Given the description of an element on the screen output the (x, y) to click on. 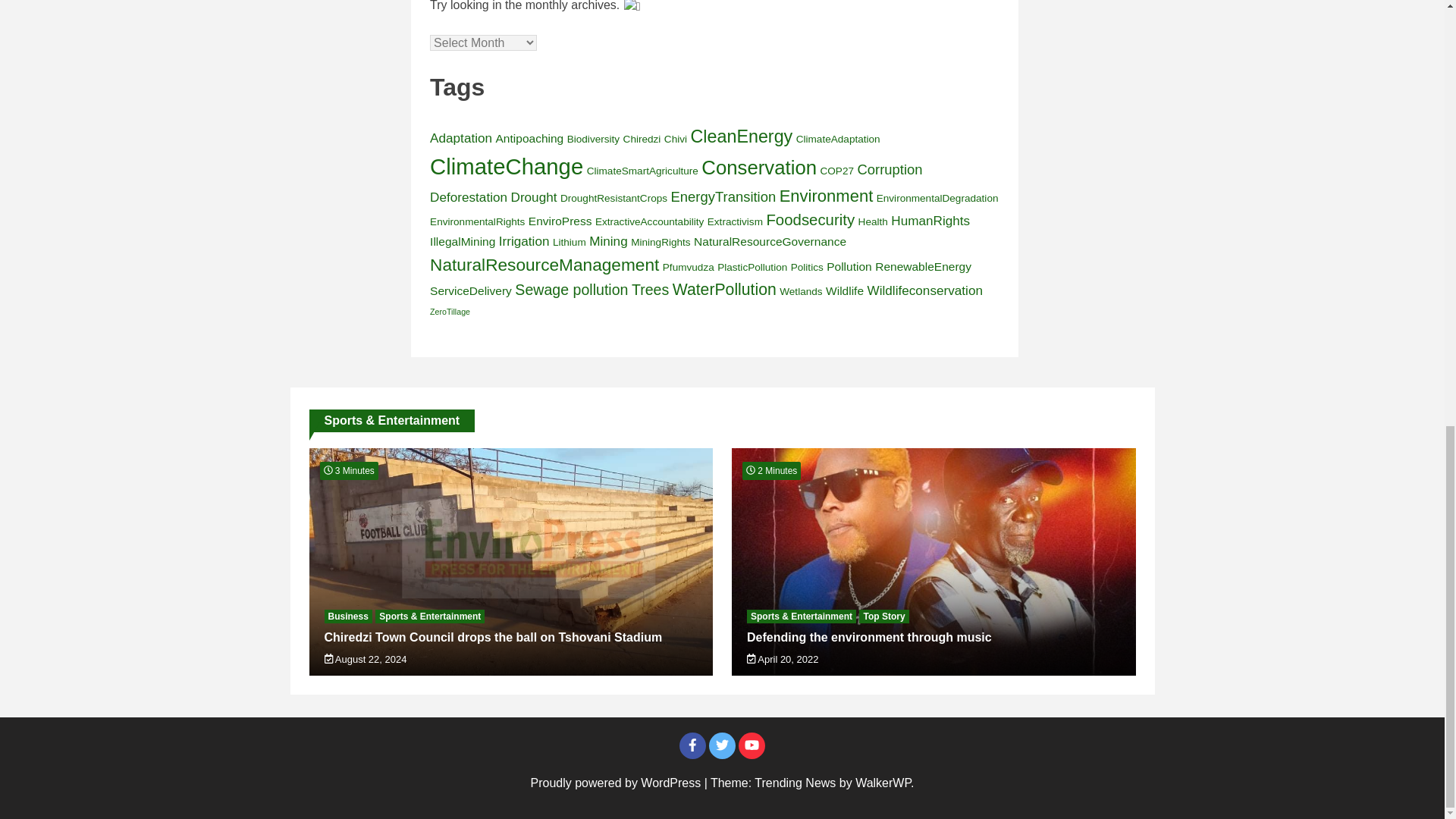
Estimated Reading Time of Article (771, 470)
Chivi (675, 138)
Adaptation (460, 137)
Antipoaching (530, 137)
Estimated Reading Time of Article (349, 470)
Biodiversity (593, 138)
Chiredzi (642, 138)
